Given the description of an element on the screen output the (x, y) to click on. 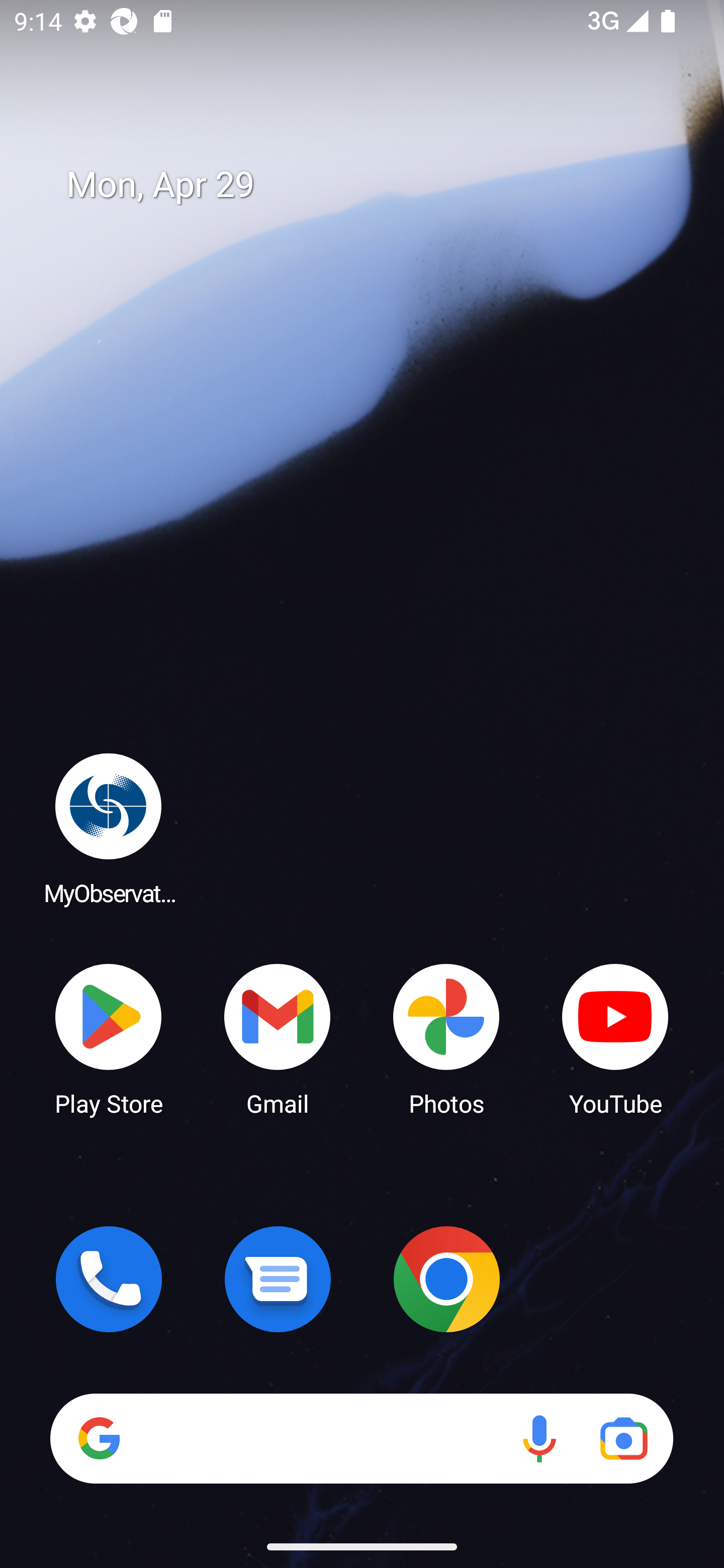
Mon, Apr 29 (375, 184)
MyObservatory (108, 828)
Play Store (108, 1038)
Gmail (277, 1038)
Photos (445, 1038)
YouTube (615, 1038)
Phone (108, 1279)
Messages (277, 1279)
Chrome (446, 1279)
Voice search (539, 1438)
Google Lens (623, 1438)
